Given the description of an element on the screen output the (x, y) to click on. 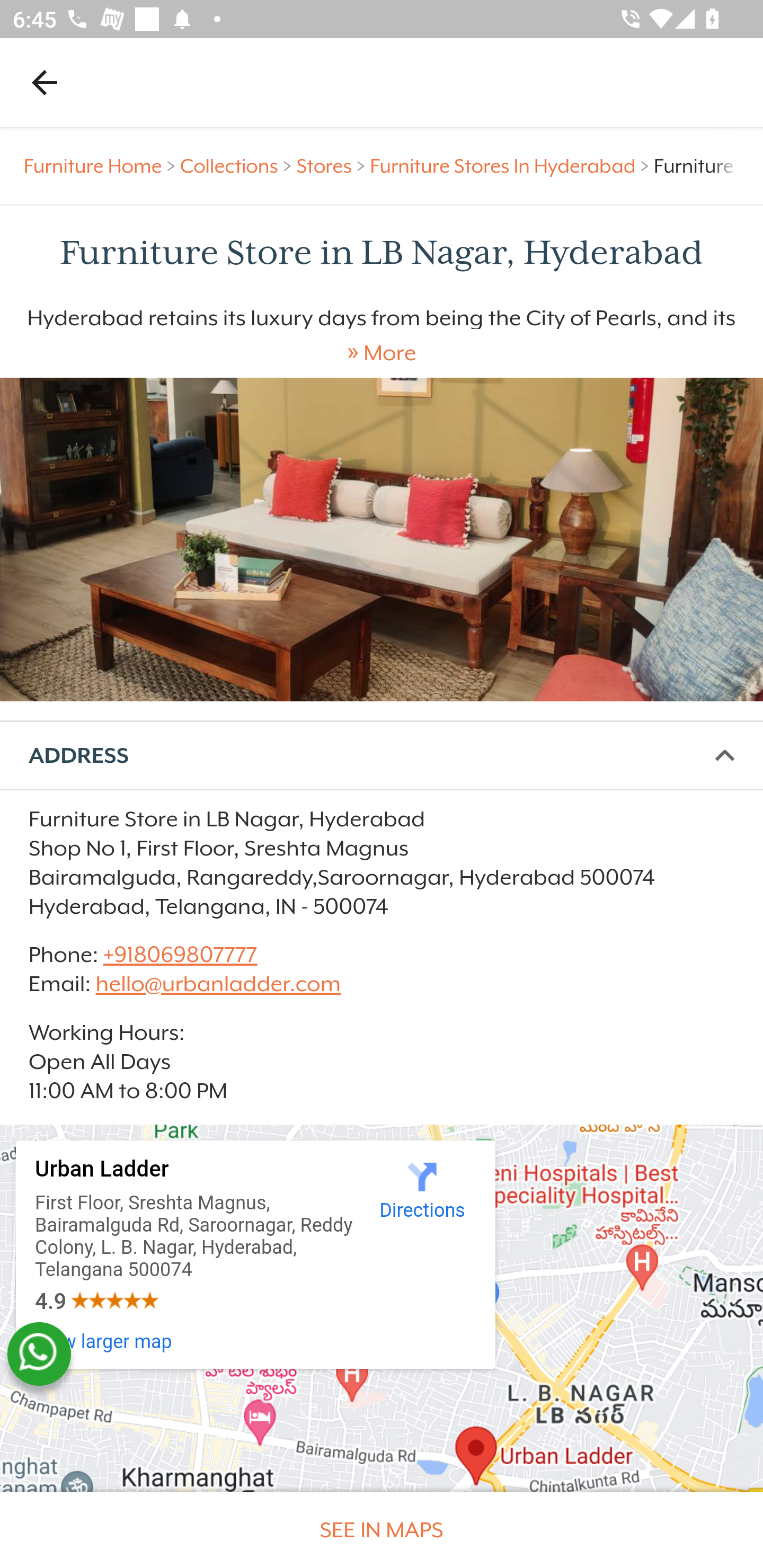
Navigate up (44, 82)
Furniture Home >  Furniture Home  >  (102, 165)
Collections >  Collections  >  (238, 165)
Stores >  Stores  >  (333, 165)
» More (381, 353)
Experience Centre (381, 539)
ADDRESS (381, 756)
+918069807777 (179, 953)
hello@urbanladder.com (218, 983)
whatsapp (38, 1353)
View larger map (104, 1341)
SEE IN MAPS (381, 1530)
